Given the description of an element on the screen output the (x, y) to click on. 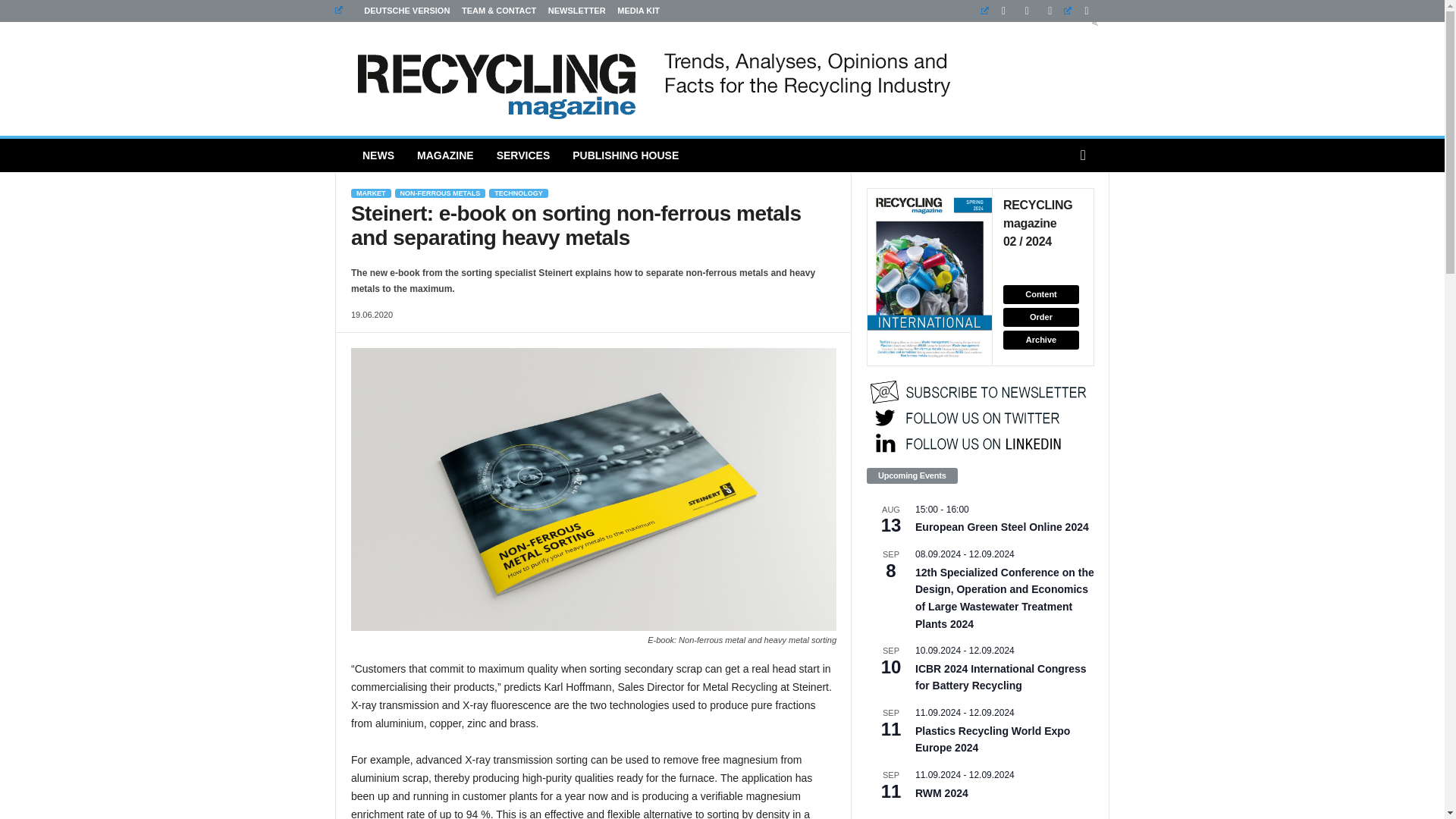
NEWSLETTER (576, 10)
DEUTSCHE VERSION (391, 10)
MEDIA KIT (638, 10)
Twitter (1080, 11)
Linkedin (997, 11)
